Given the description of an element on the screen output the (x, y) to click on. 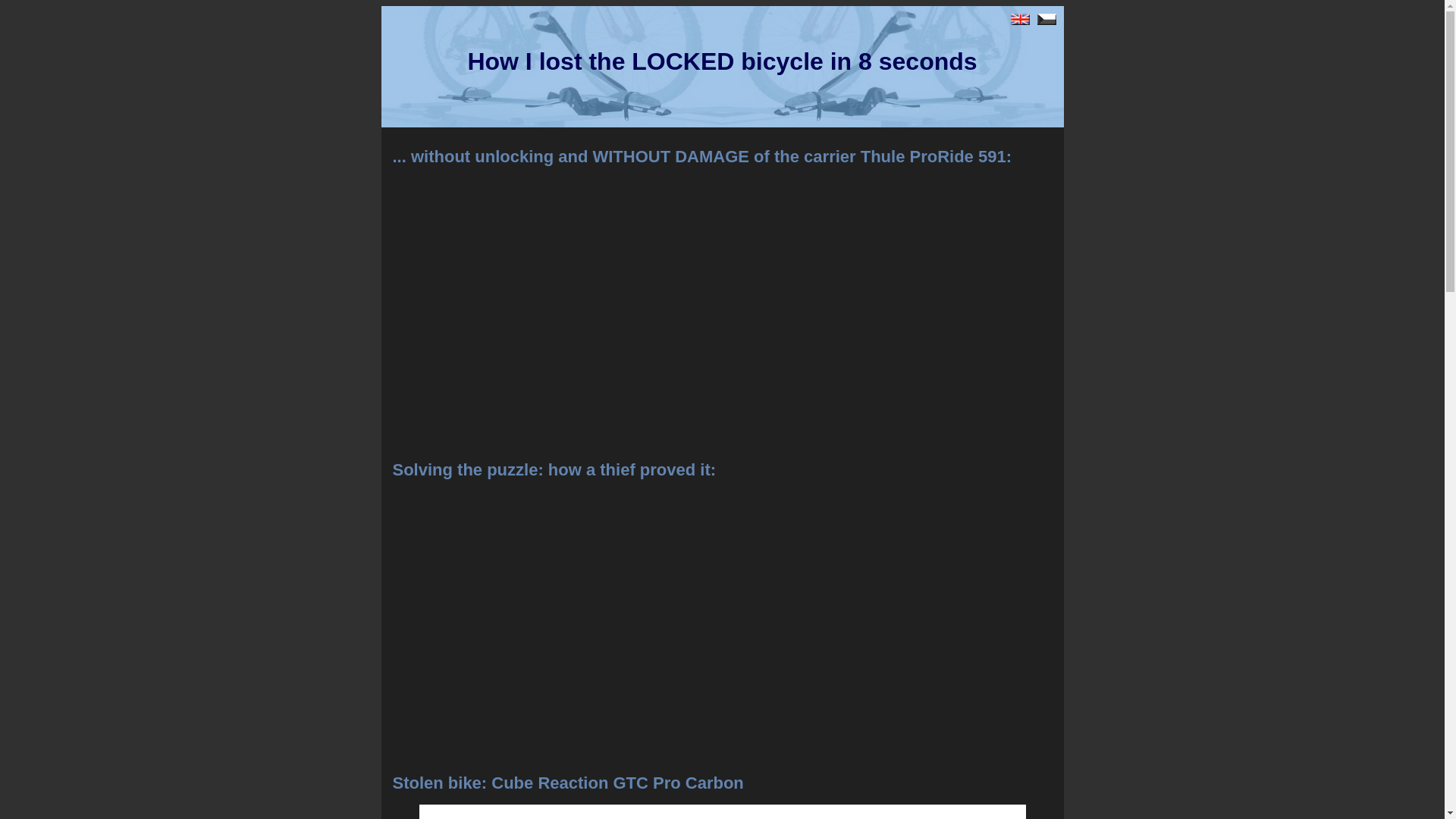
English (1019, 19)
